Given the description of an element on the screen output the (x, y) to click on. 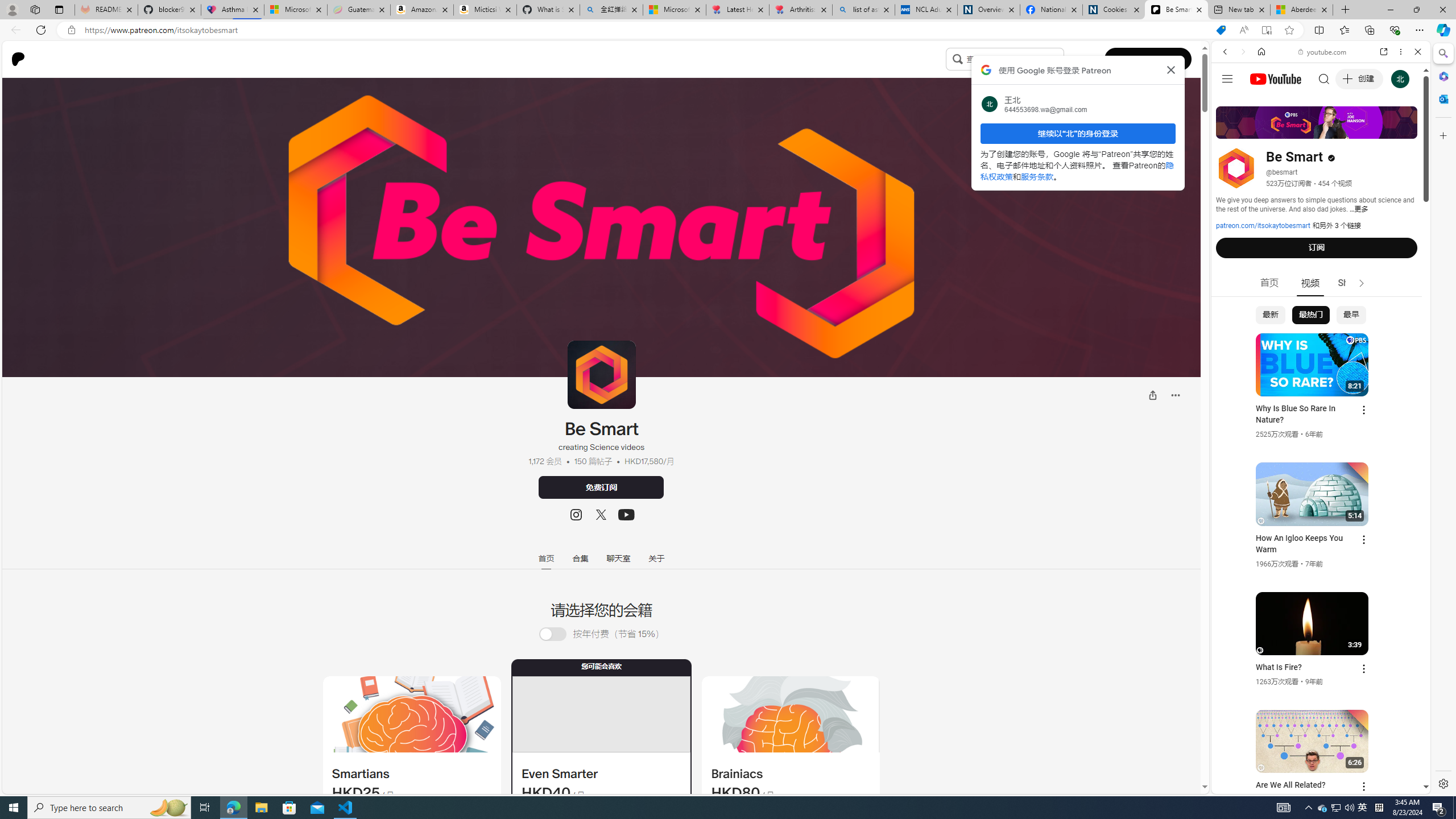
Arthritis: Ask Health Professionals (800, 9)
Patreon logo (17, 59)
Address and search bar (647, 29)
Shorts (1351, 283)
Music (1320, 309)
Enter Immersive Reader (F9) (1266, 29)
More options (1401, 51)
Asthma Inhalers: Names and Types (232, 9)
